Given the description of an element on the screen output the (x, y) to click on. 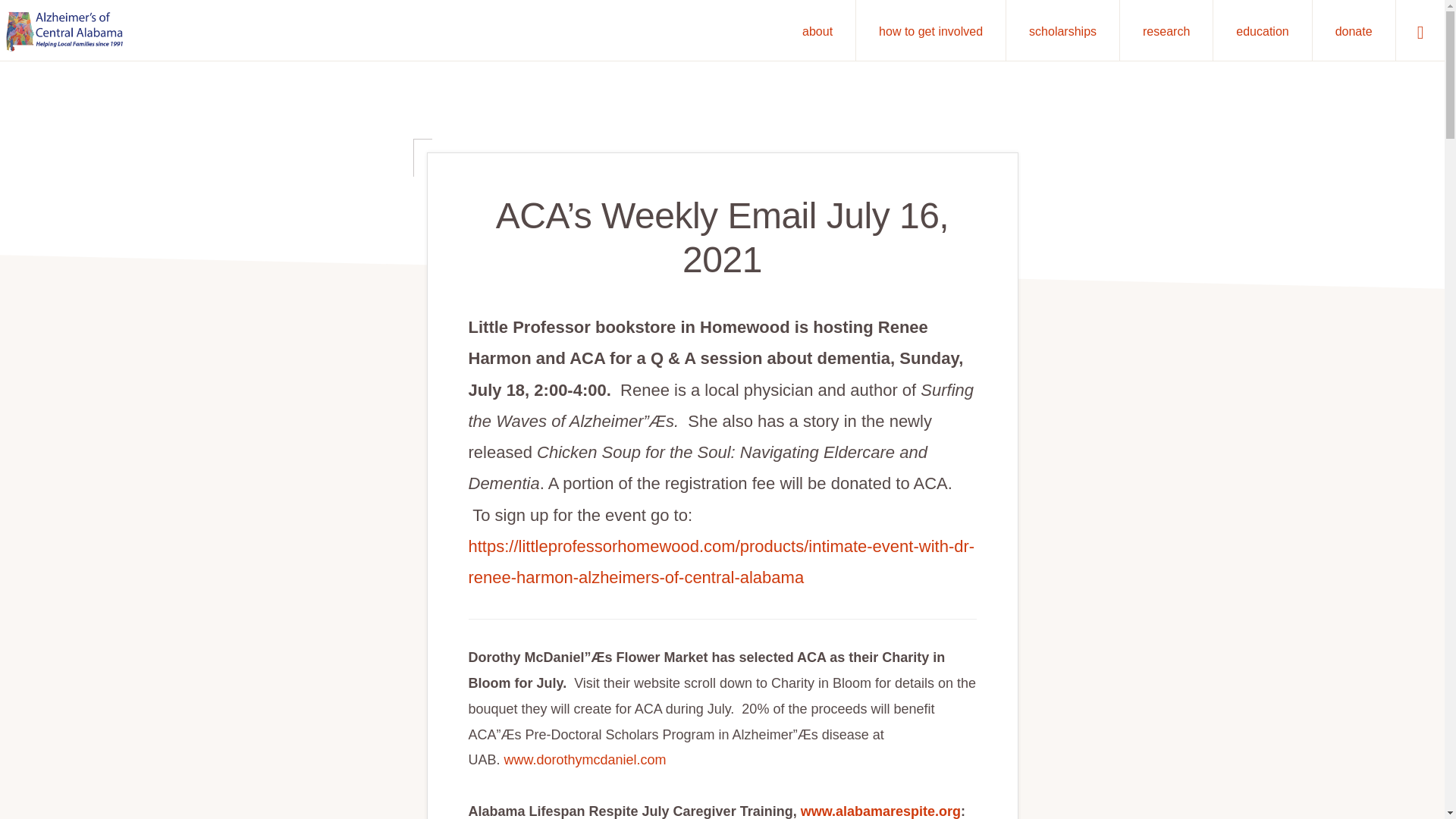
research (1165, 30)
donate (1353, 30)
scholarships (1062, 30)
how to get involved (931, 30)
www.dorothymcdaniel.com (584, 759)
education (1261, 30)
about (817, 30)
www.alabamarespite.org (880, 811)
